Given the description of an element on the screen output the (x, y) to click on. 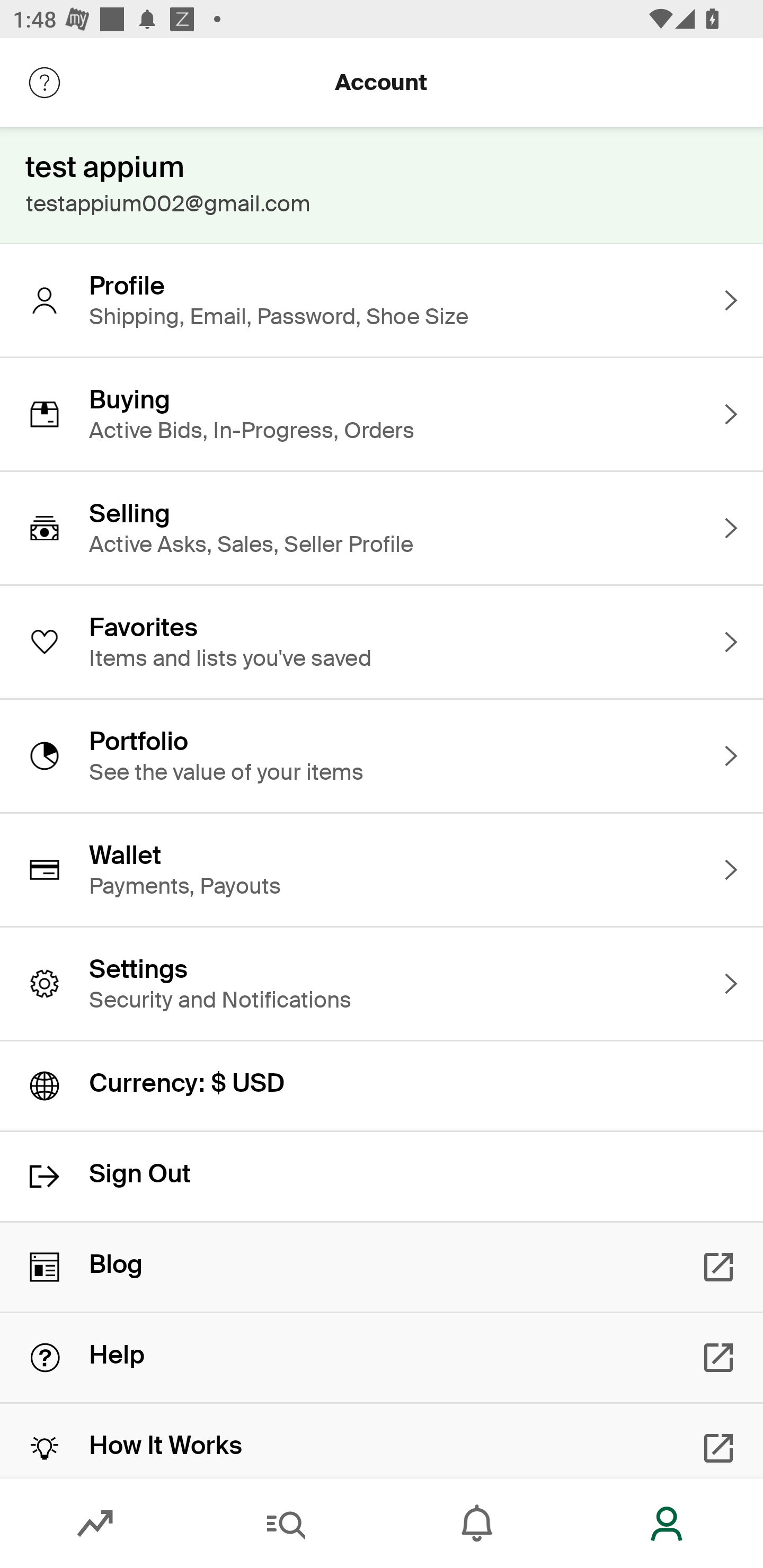
Profile Shipping, Email, Password, Shoe Size (381, 299)
Buying Active Bids, In-Progress, Orders (381, 413)
Selling Active Asks, Sales, Seller Profile (381, 527)
Favorites Items and lists you've saved (381, 641)
Portfolio See the value of your items (381, 755)
Wallet Payments, Payouts (381, 869)
Settings Security and Notifications (381, 983)
Currency: $ USD (381, 1085)
Sign Out (381, 1176)
Blog (381, 1266)
Help (381, 1357)
How It Works (381, 1440)
Market (95, 1523)
Search (285, 1523)
Inbox (476, 1523)
